Given the description of an element on the screen output the (x, y) to click on. 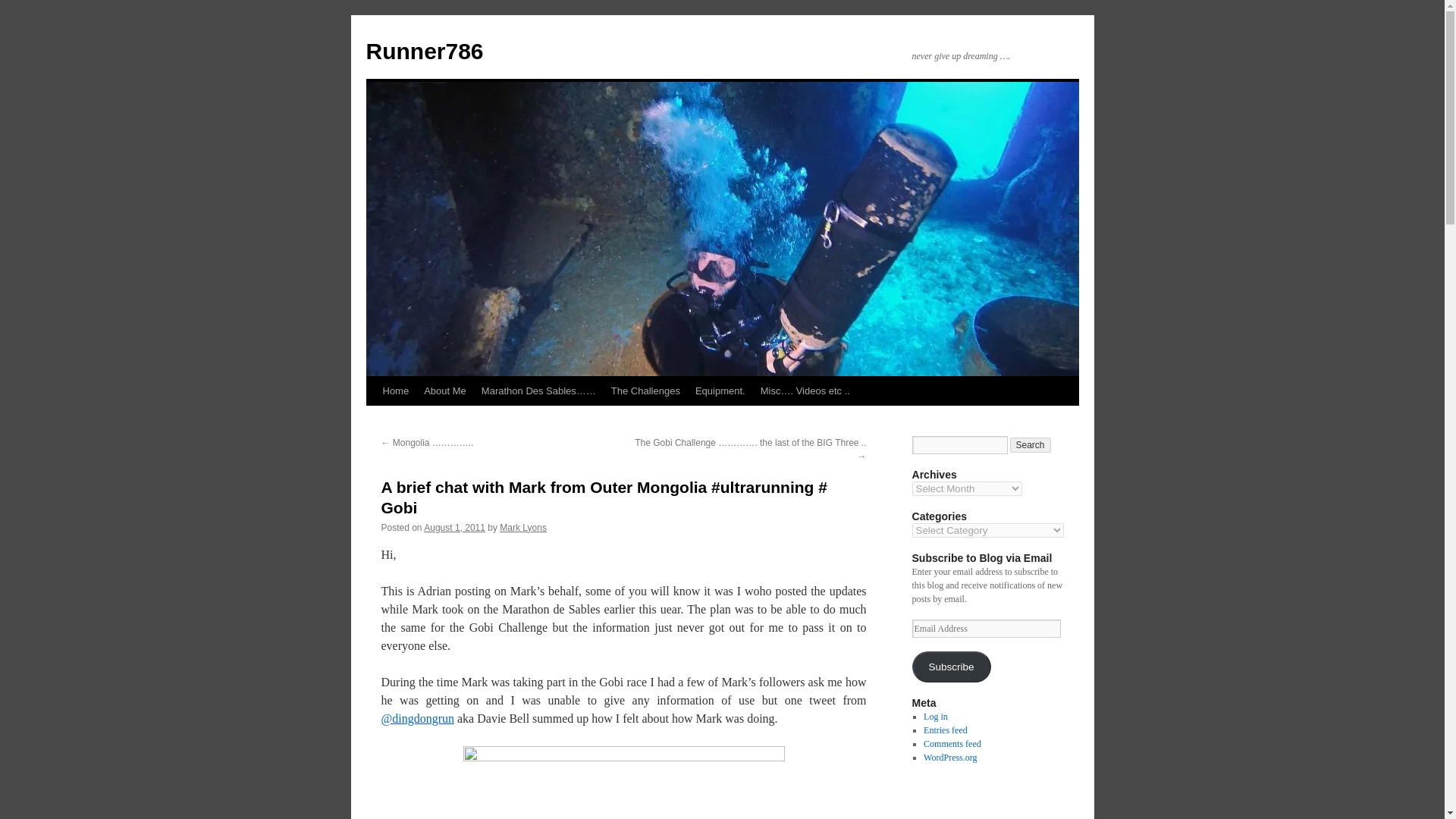
Mark Lyons (523, 527)
Runner786 (424, 50)
WordPress.org (949, 757)
The Challenges (645, 390)
Home (395, 390)
Comments feed (952, 743)
Subscribe (950, 666)
Search (1030, 444)
Search (1030, 444)
August 1, 2011 (453, 527)
Equipment. (719, 390)
11:59 am (453, 527)
Entries feed (945, 729)
View all posts by Mark Lyons (523, 527)
About Me (445, 390)
